Given the description of an element on the screen output the (x, y) to click on. 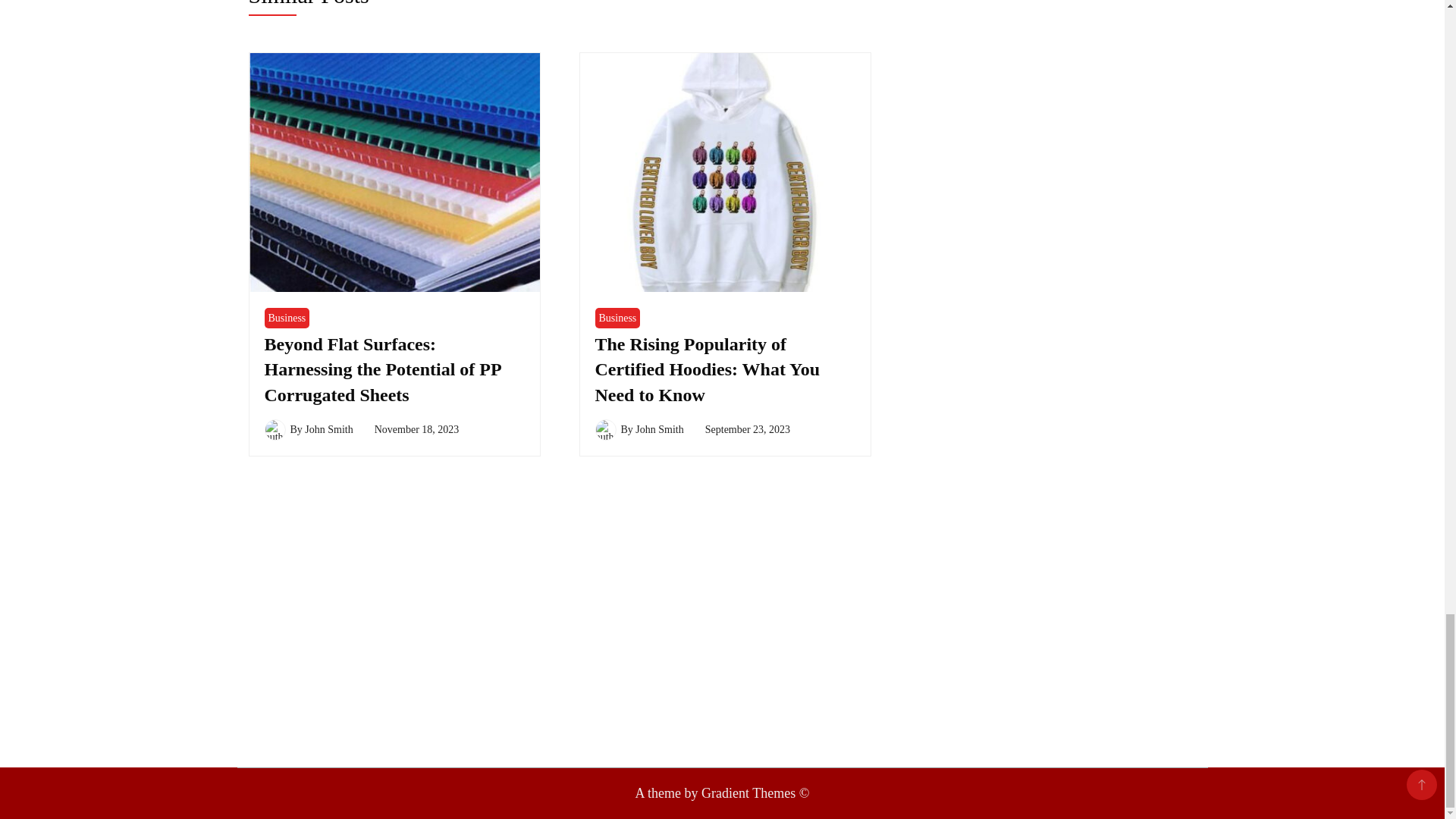
Advertisement (721, 501)
